Given the description of an element on the screen output the (x, y) to click on. 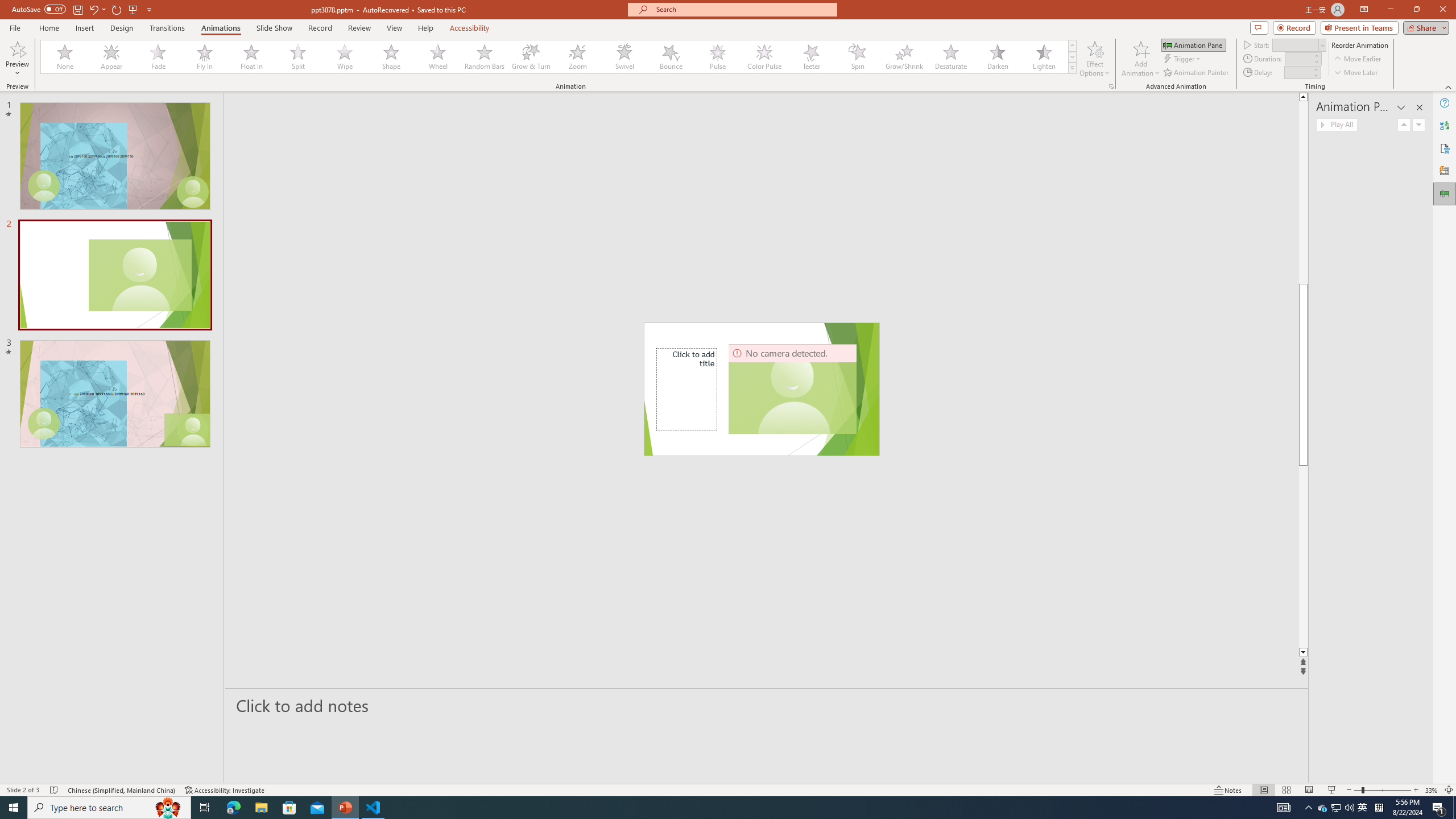
Pulse (717, 56)
Color Pulse (764, 56)
Fade (158, 56)
Trigger (1182, 58)
Animation Styles (1071, 67)
Spin (857, 56)
